Given the description of an element on the screen output the (x, y) to click on. 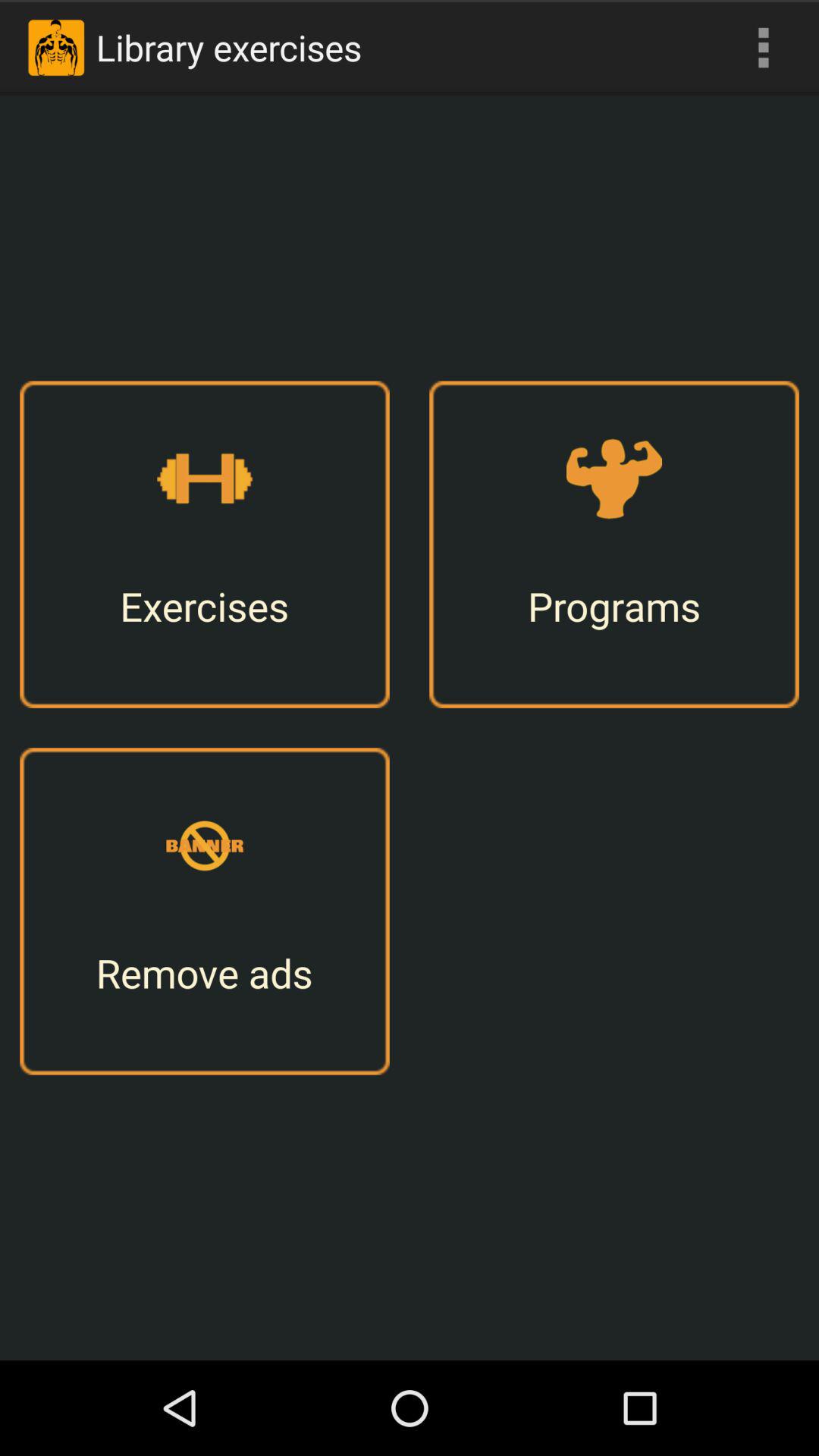
tap the item above programs icon (763, 47)
